Given the description of an element on the screen output the (x, y) to click on. 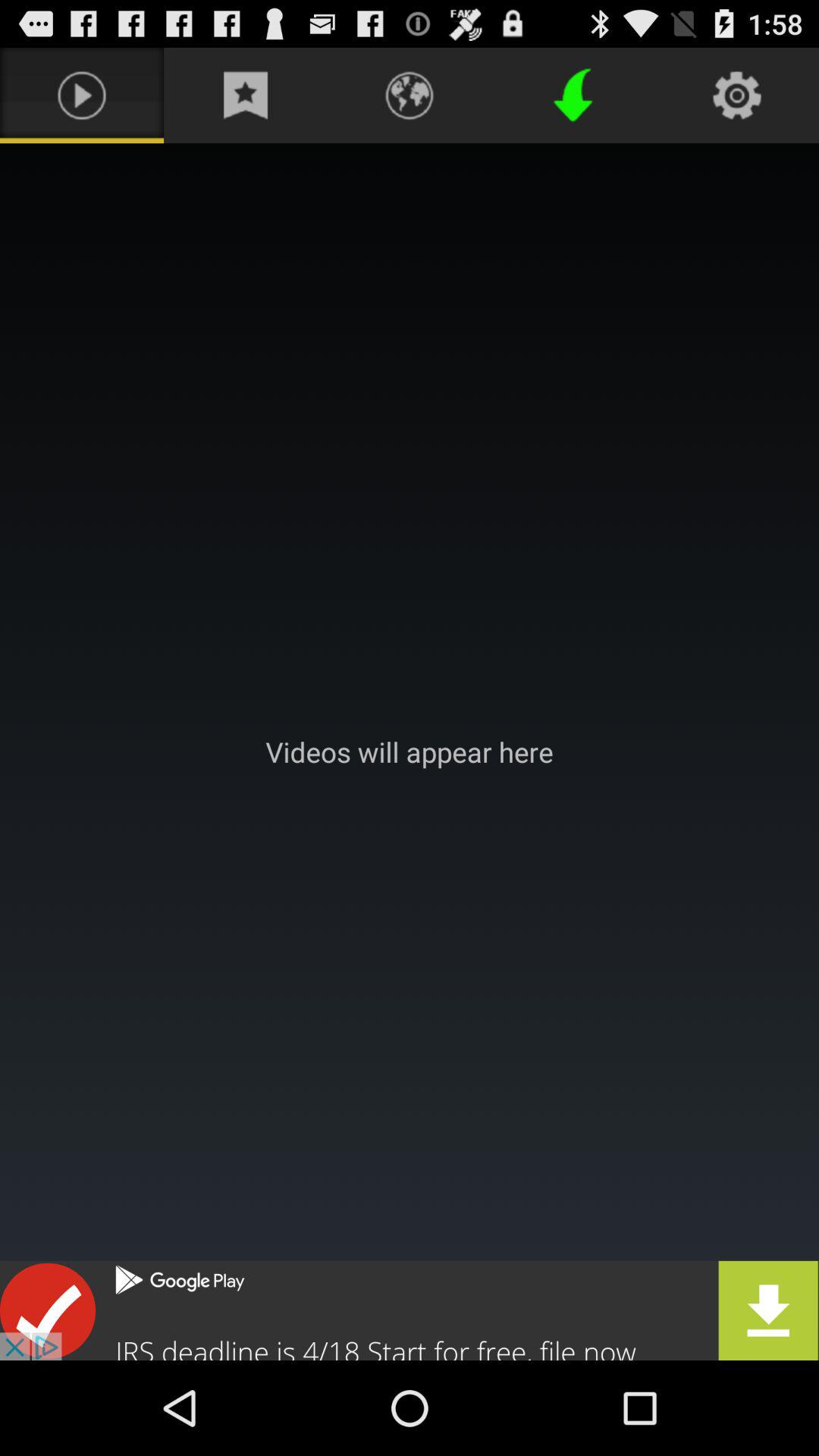
advertisement page (409, 1310)
